Given the description of an element on the screen output the (x, y) to click on. 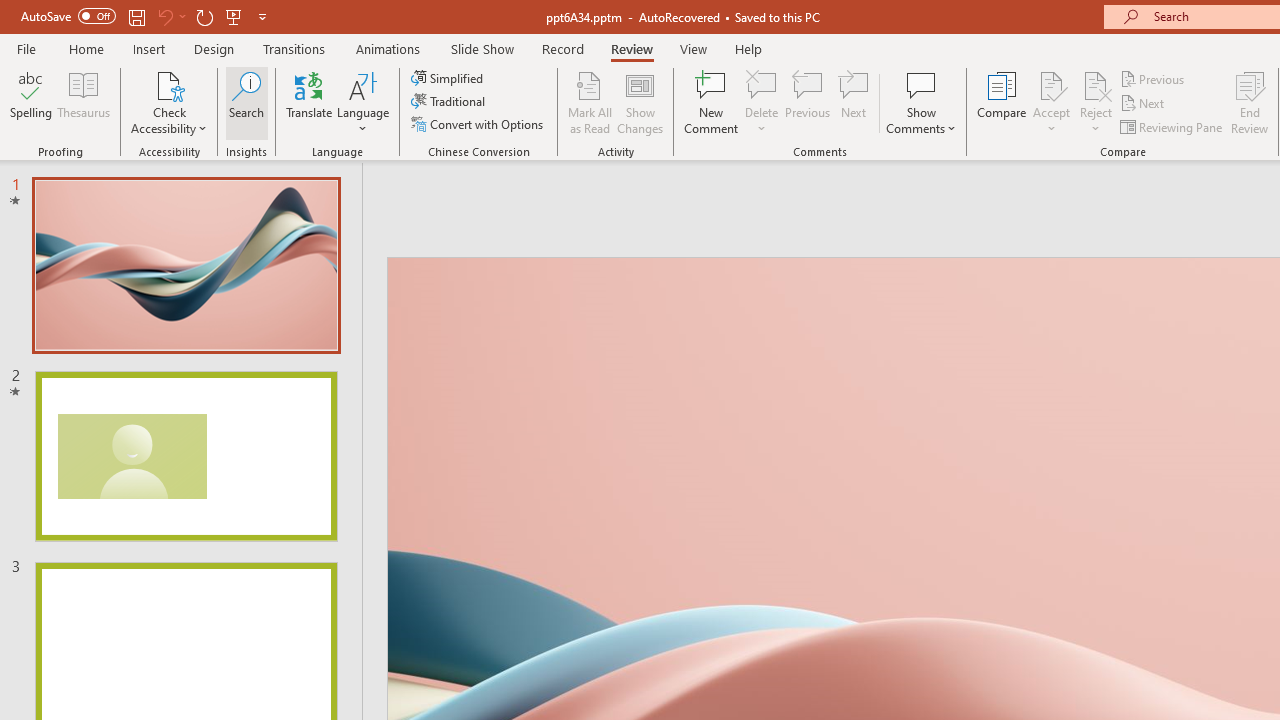
Compare (1002, 102)
Reviewing Pane (1172, 126)
Language (363, 102)
Mark All as Read (589, 102)
Simplified (449, 78)
Thesaurus... (83, 102)
Next (1144, 103)
Translate (309, 102)
